Given the description of an element on the screen output the (x, y) to click on. 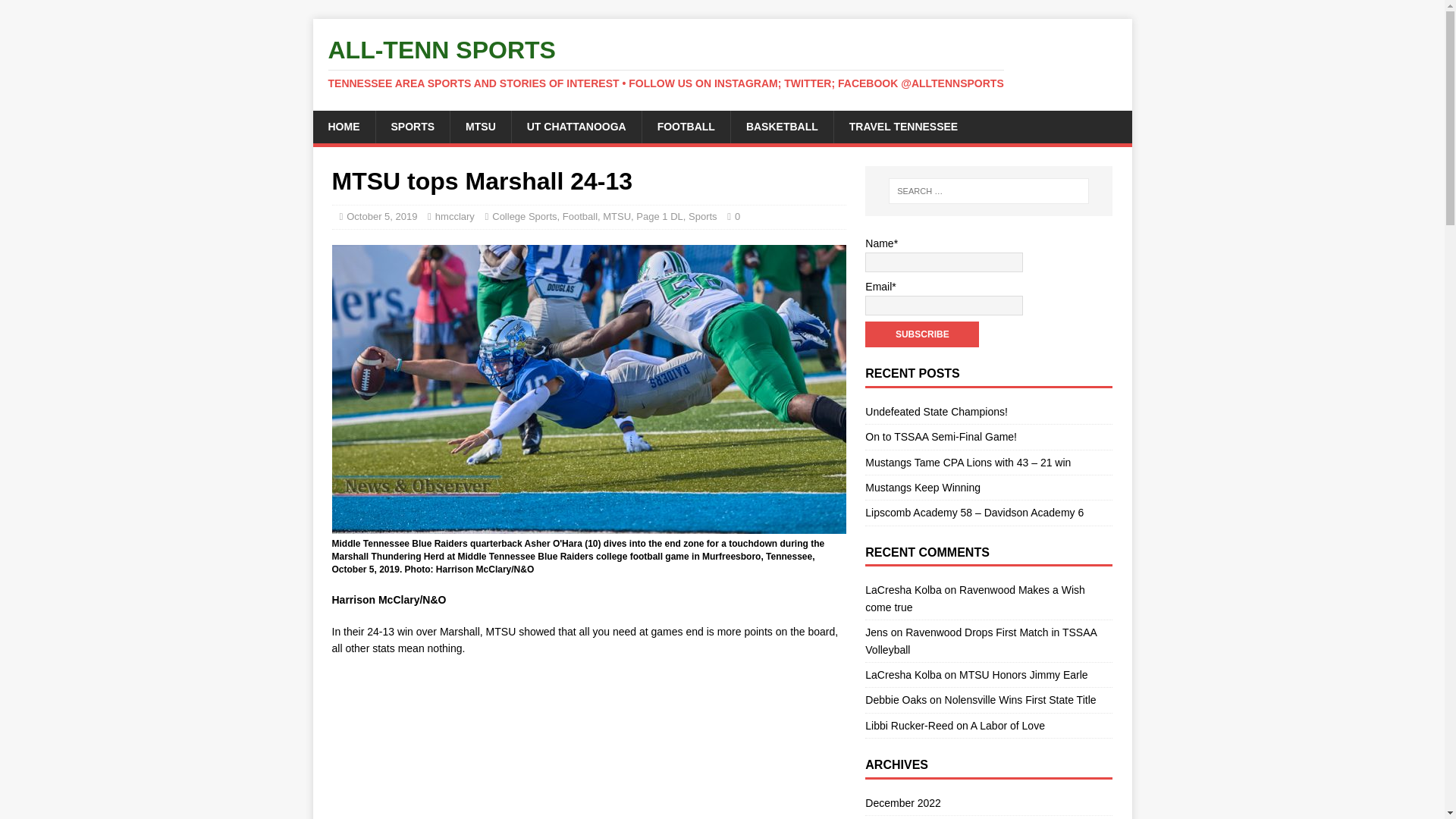
College Sports (524, 215)
Ravenwood Makes a Wish come true (974, 597)
Search (56, 11)
October 5, 2019 (381, 215)
MTSU (480, 126)
Football (579, 215)
hmcclary (454, 215)
Undefeated State Champions! (935, 411)
HOME (343, 126)
SPORTS (411, 126)
